Given the description of an element on the screen output the (x, y) to click on. 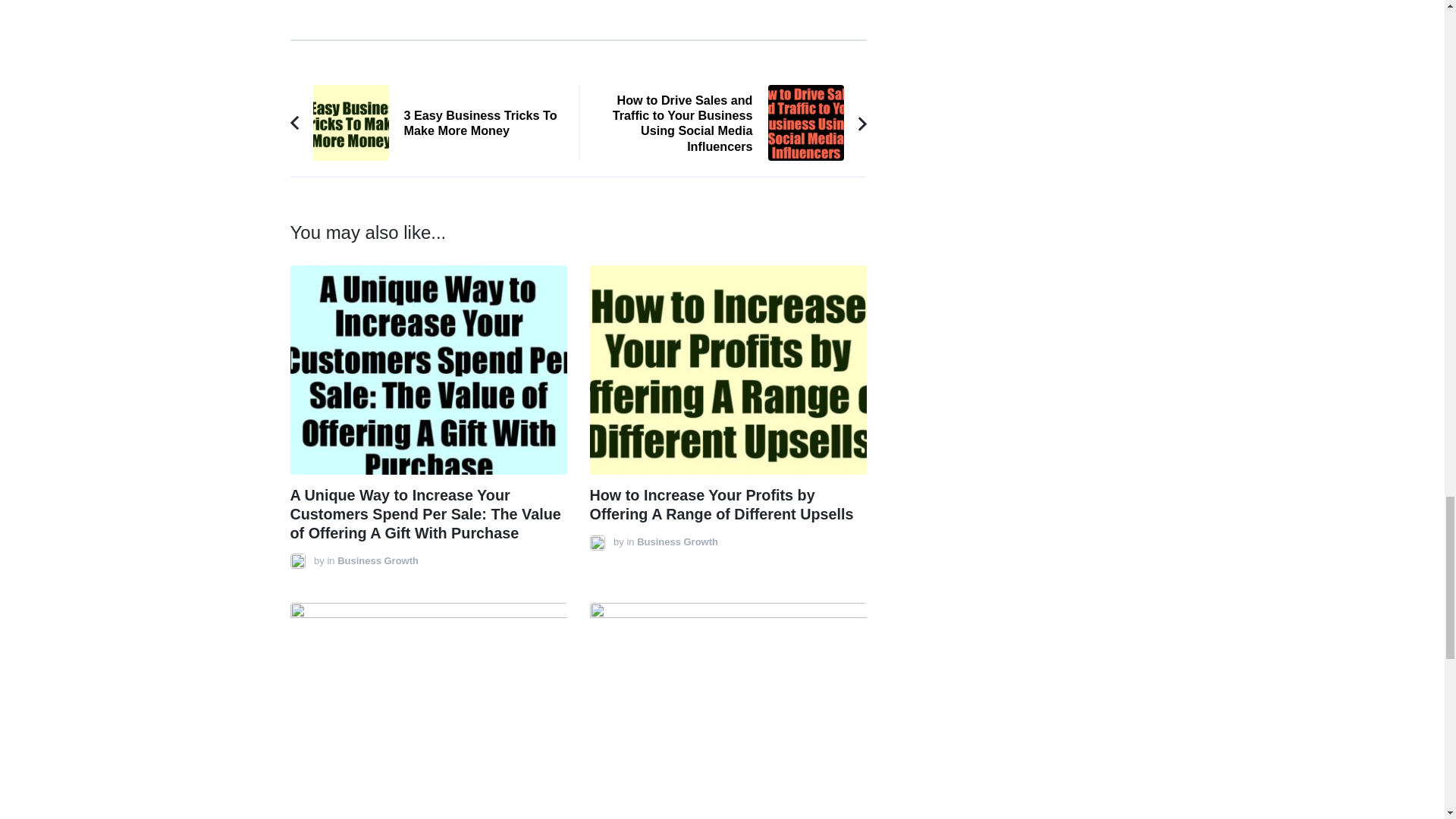
Business Growth (433, 122)
Business Growth (378, 560)
